Given the description of an element on the screen output the (x, y) to click on. 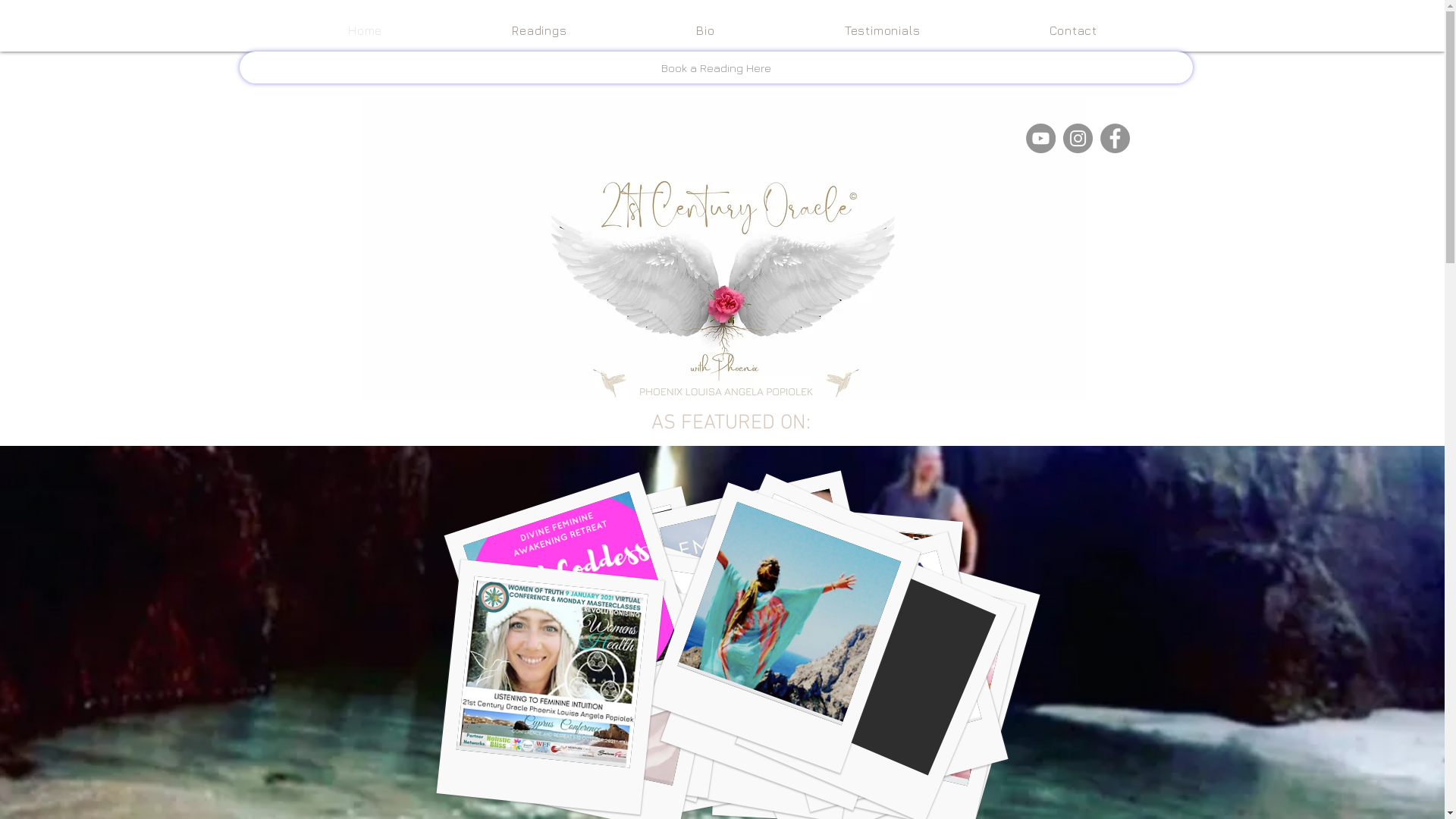
Readings Element type: text (539, 29)
Bio Element type: text (705, 29)
Contact Element type: text (1073, 29)
Testimonials Element type: text (882, 29)
Home Element type: text (365, 29)
Phoenix Louisa Angela Popiolek.jpg Element type: hover (722, 248)
Book a Reading Here Element type: text (715, 67)
